Given the description of an element on the screen output the (x, y) to click on. 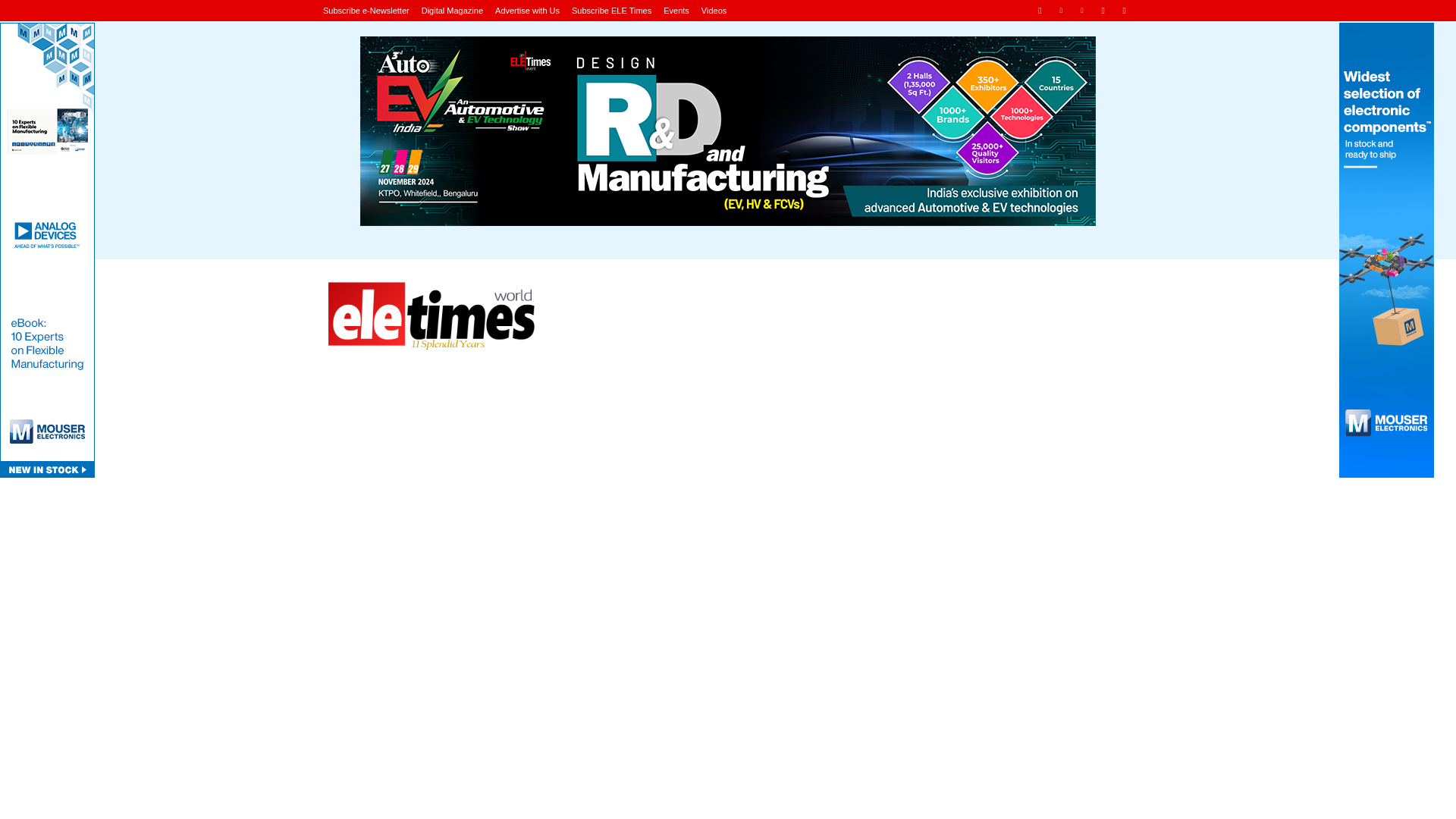
Linkedin (1061, 9)
Twitter (1123, 9)
Pinterest (1082, 9)
Facebook (1039, 9)
Tumblr (1103, 9)
